Given the description of an element on the screen output the (x, y) to click on. 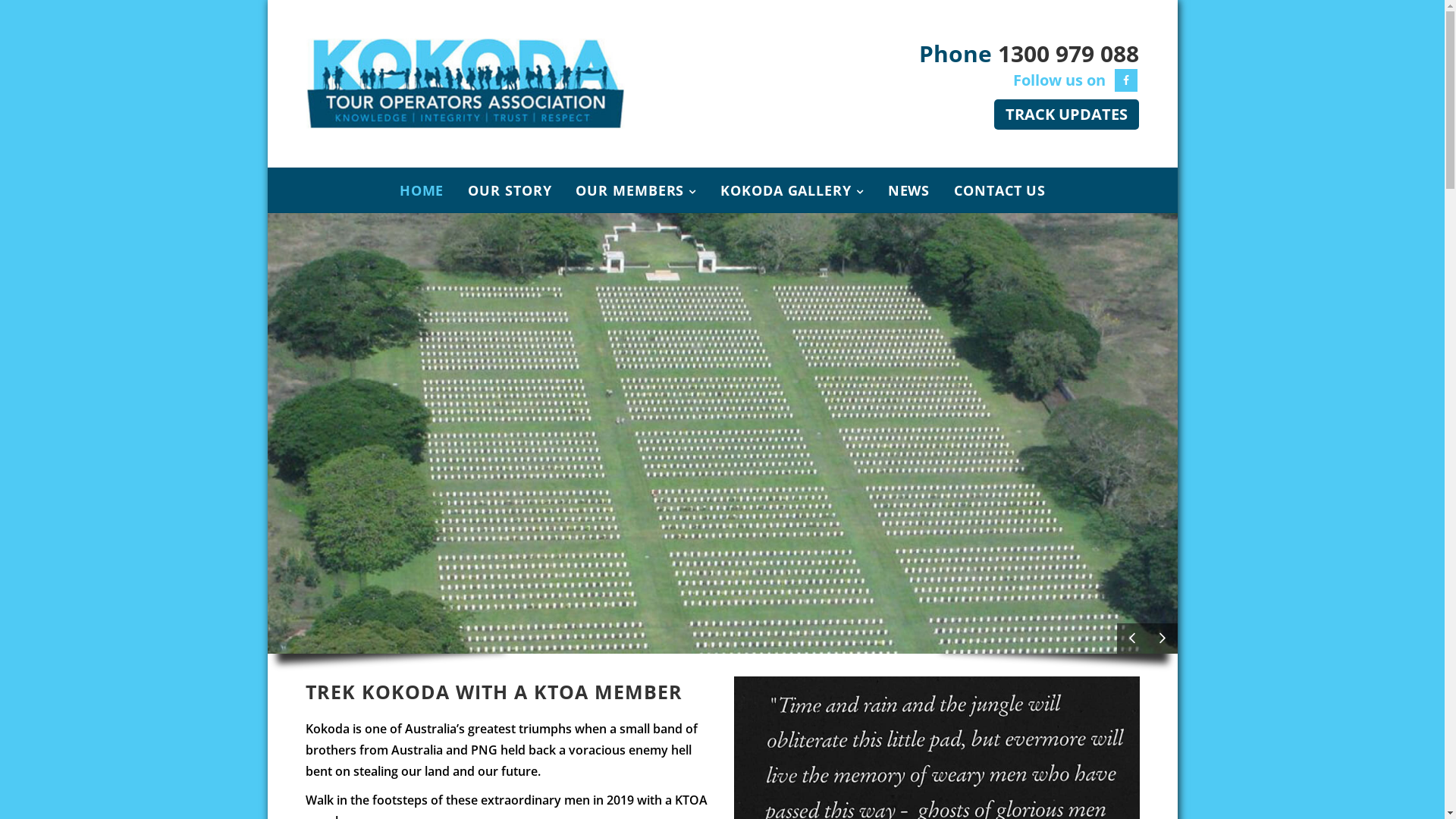
NEWS Element type: text (909, 190)
1300 979 088 Element type: text (1068, 53)
TRACK UPDATES Element type: text (1065, 114)
HOME Element type: text (427, 190)
Kokoda Tour Operators Association -  Element type: hover (464, 82)
CONTACT US Element type: text (999, 190)
KOKODA GALLERY Element type: text (791, 190)
OUR STORY Element type: text (509, 190)
OUR MEMBERS Element type: text (635, 190)
